Given the description of an element on the screen output the (x, y) to click on. 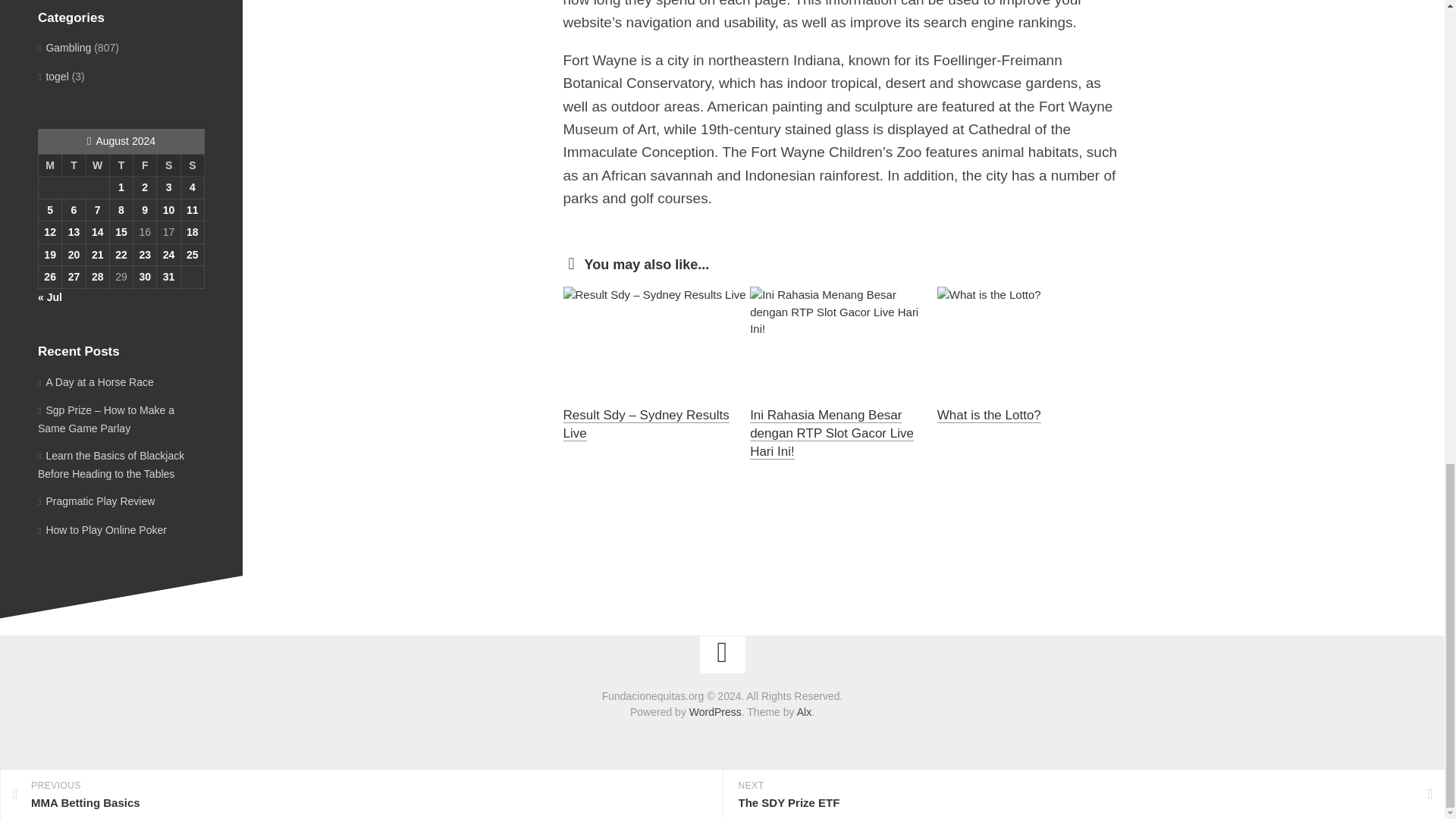
Thursday (120, 164)
Wednesday (97, 164)
What is the Lotto? (989, 414)
Friday (145, 164)
Tuesday (73, 164)
Monday (49, 164)
Saturday (168, 164)
Sunday (191, 164)
